Given the description of an element on the screen output the (x, y) to click on. 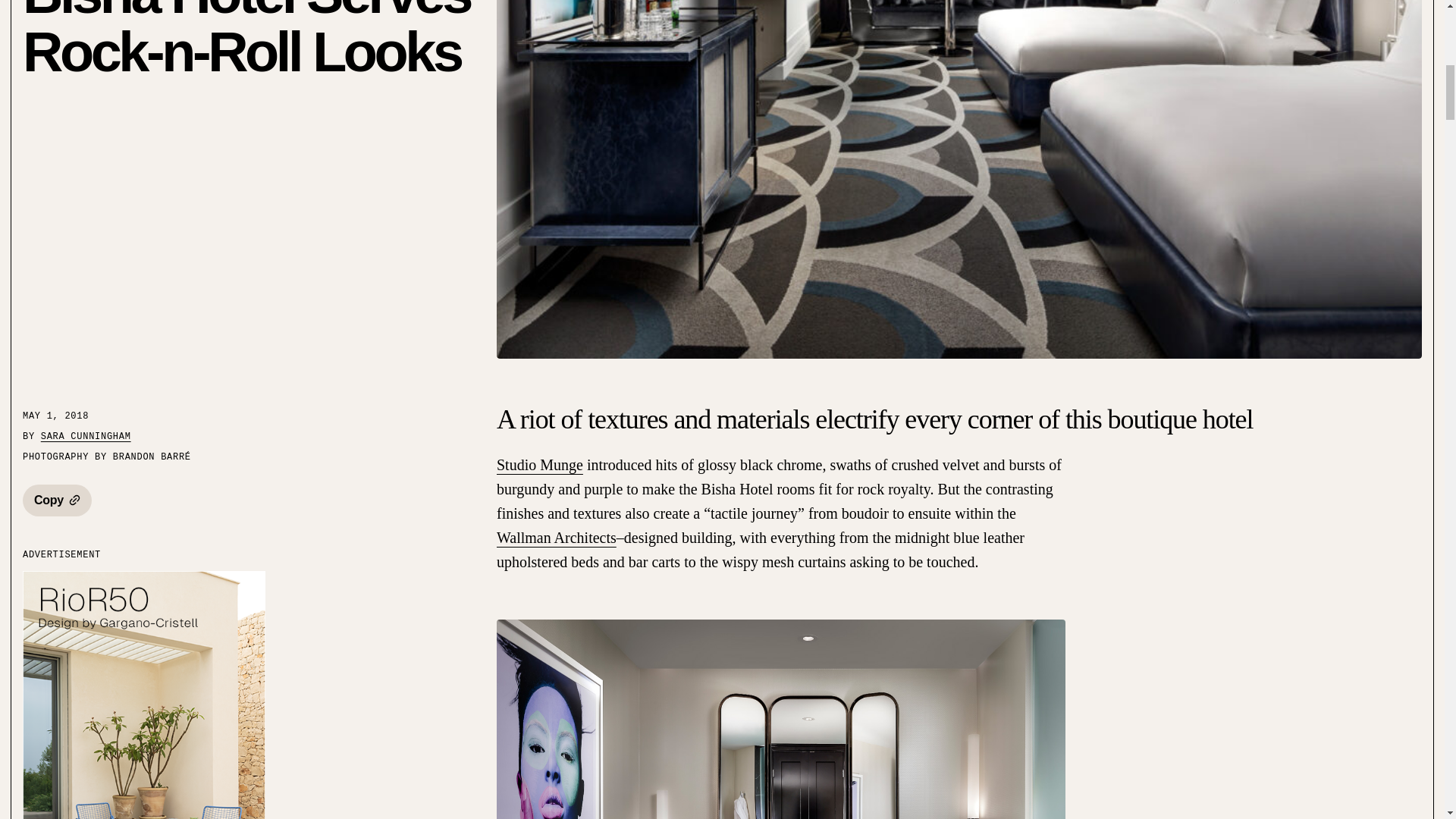
EMU Americas - ZONE A Skyscraper June 2024 (143, 694)
